Given the description of an element on the screen output the (x, y) to click on. 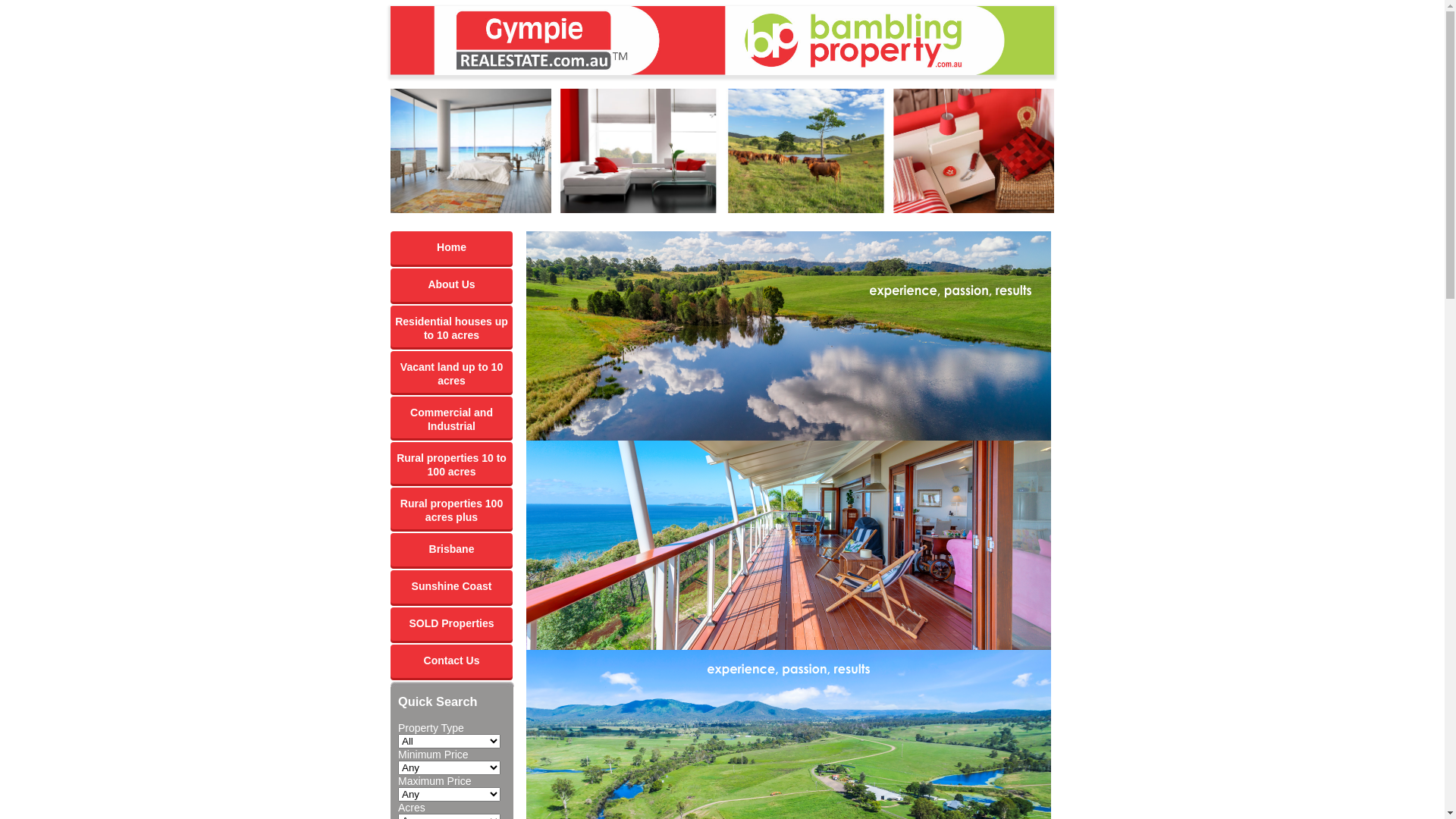
Contact Us Element type: text (451, 660)
About Us Element type: text (451, 284)
SOLD Properties Element type: text (451, 623)
Commercial and Industrial Element type: text (451, 417)
Sunshine Coast Element type: text (451, 586)
Rural properties 100 acres plus Element type: text (451, 508)
Rural properties 10 to 100 acres Element type: text (451, 462)
Residential houses up to 10 acres Element type: text (451, 326)
Brisbane Element type: text (451, 549)
Home Element type: text (451, 247)
Vacant land up to 10 acres Element type: text (451, 371)
